Given the description of an element on the screen output the (x, y) to click on. 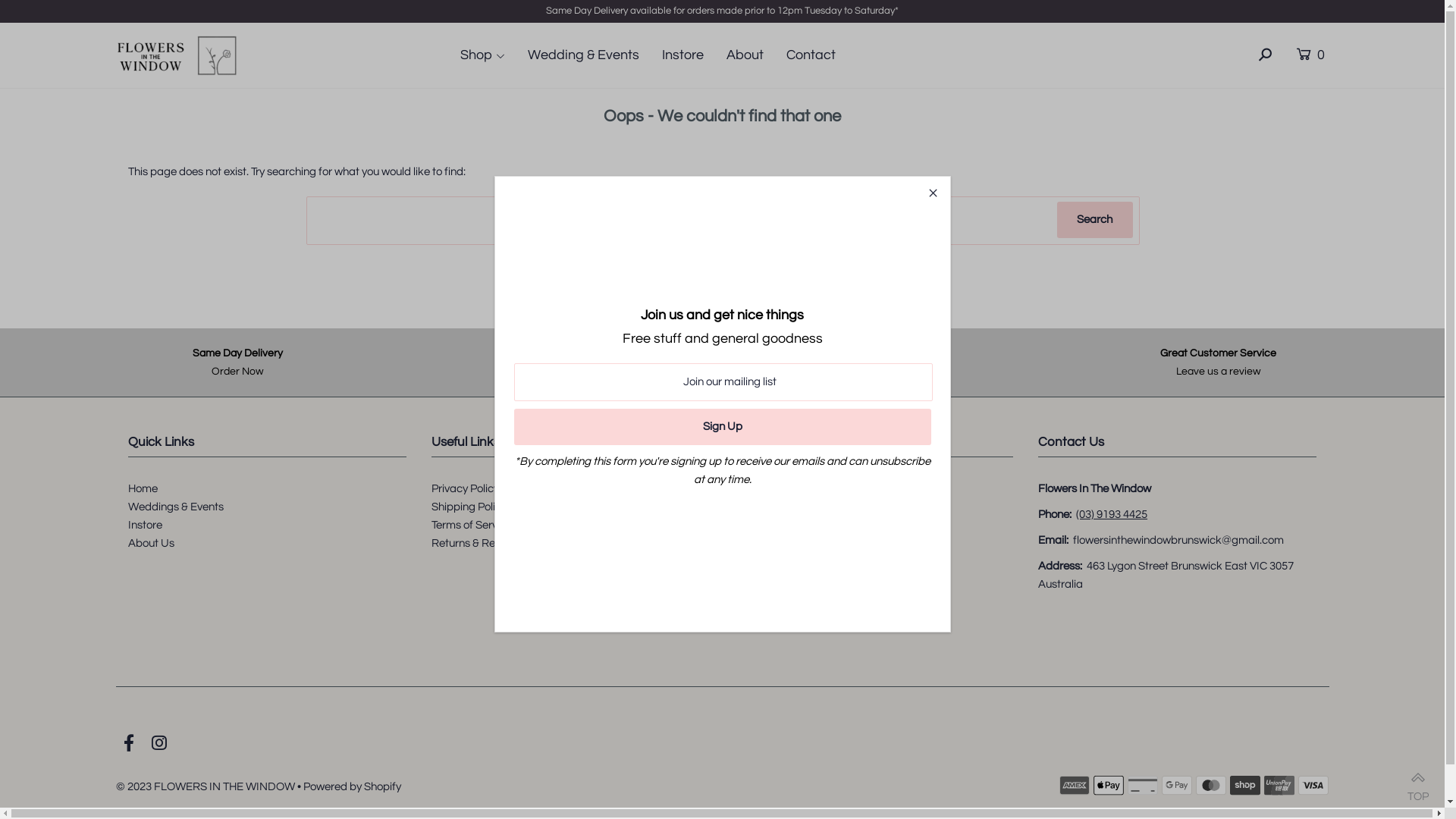
About Element type: text (755, 54)
Shop Element type: text (491, 54)
Privacy Policy Element type: text (464, 487)
Powered by Shopify Element type: text (352, 786)
Instore Element type: text (145, 524)
0 Element type: text (1307, 54)
Instore Element type: text (692, 54)
Terms of Service Element type: text (471, 524)
TOP Element type: text (1417, 780)
Returns & Refunds Element type: text (477, 542)
Sign Up Element type: text (722, 425)
Contact Element type: text (820, 54)
(03) 9193 4425 Element type: text (1111, 513)
About Us Element type: text (151, 542)
Home Element type: text (142, 487)
Shipping Policy Element type: text (468, 505)
Wedding & Events Element type: text (593, 54)
Search Element type: text (1094, 219)
Weddings & Events Element type: text (175, 505)
